Given the description of an element on the screen output the (x, y) to click on. 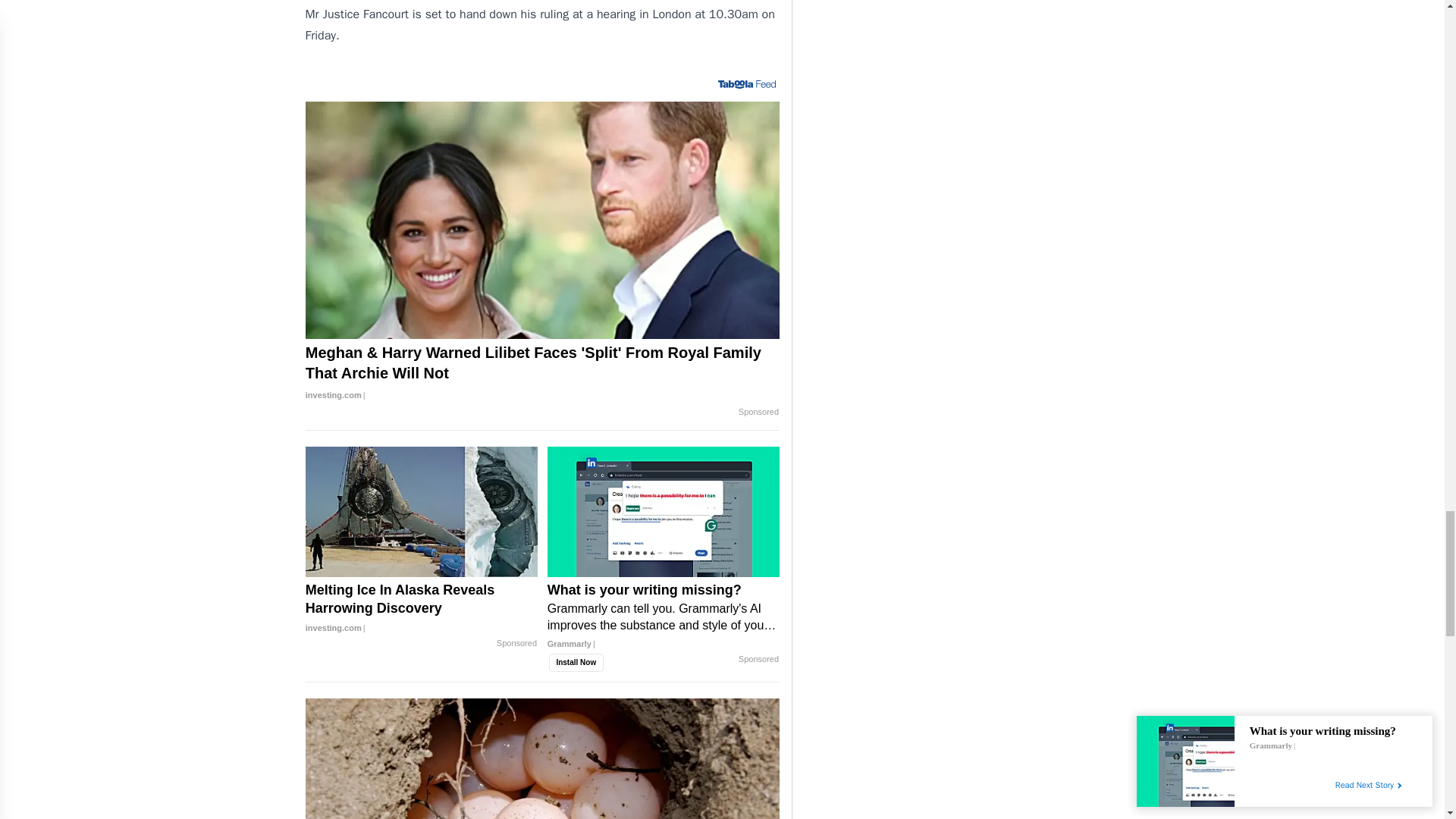
Melting Ice In Alaska Reveals Harrowing Discovery (421, 608)
Melting Ice In Alaska Reveals Harrowing Discovery (421, 511)
